Given the description of an element on the screen output the (x, y) to click on. 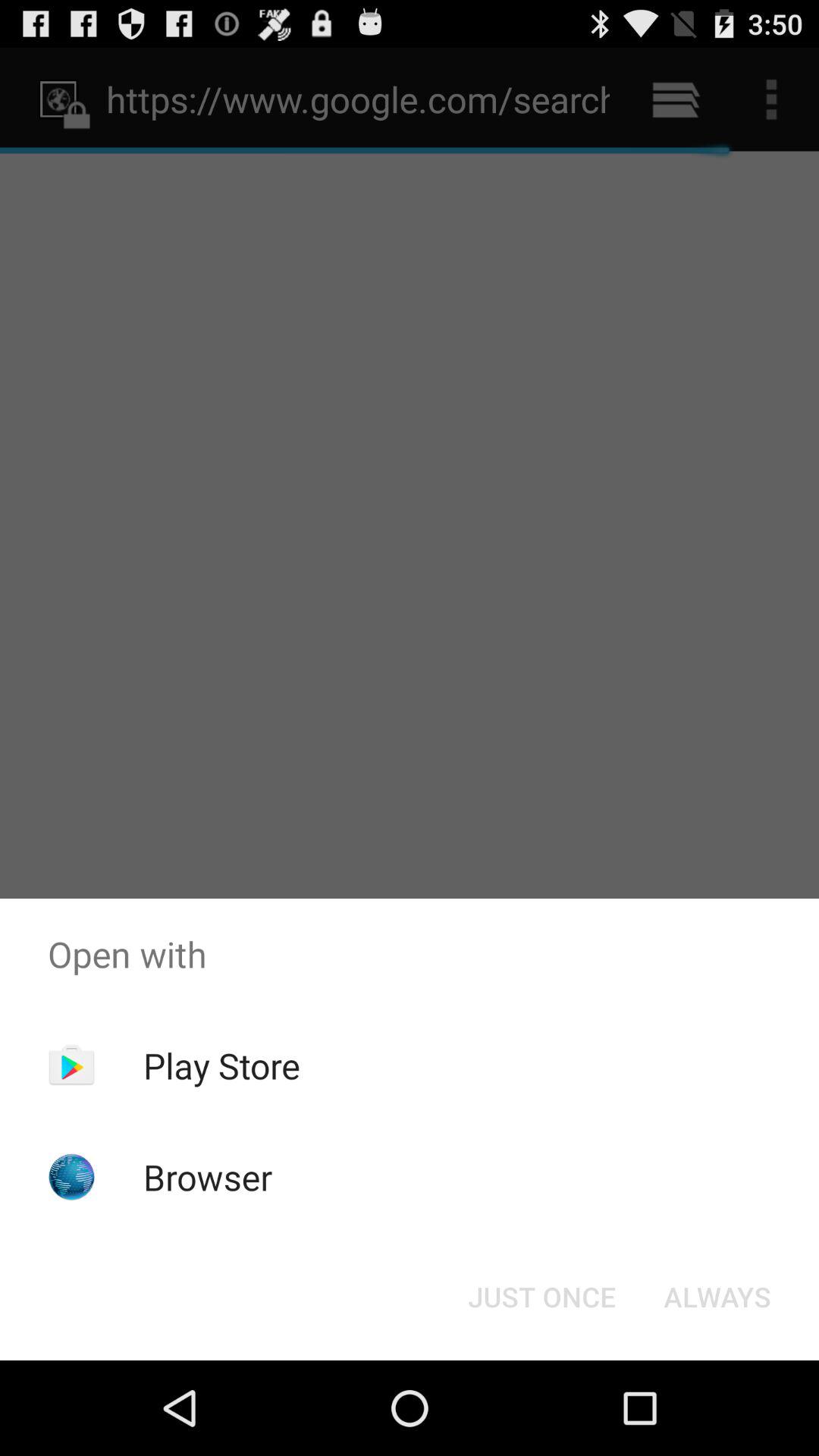
turn on the app below open with app (717, 1296)
